Given the description of an element on the screen output the (x, y) to click on. 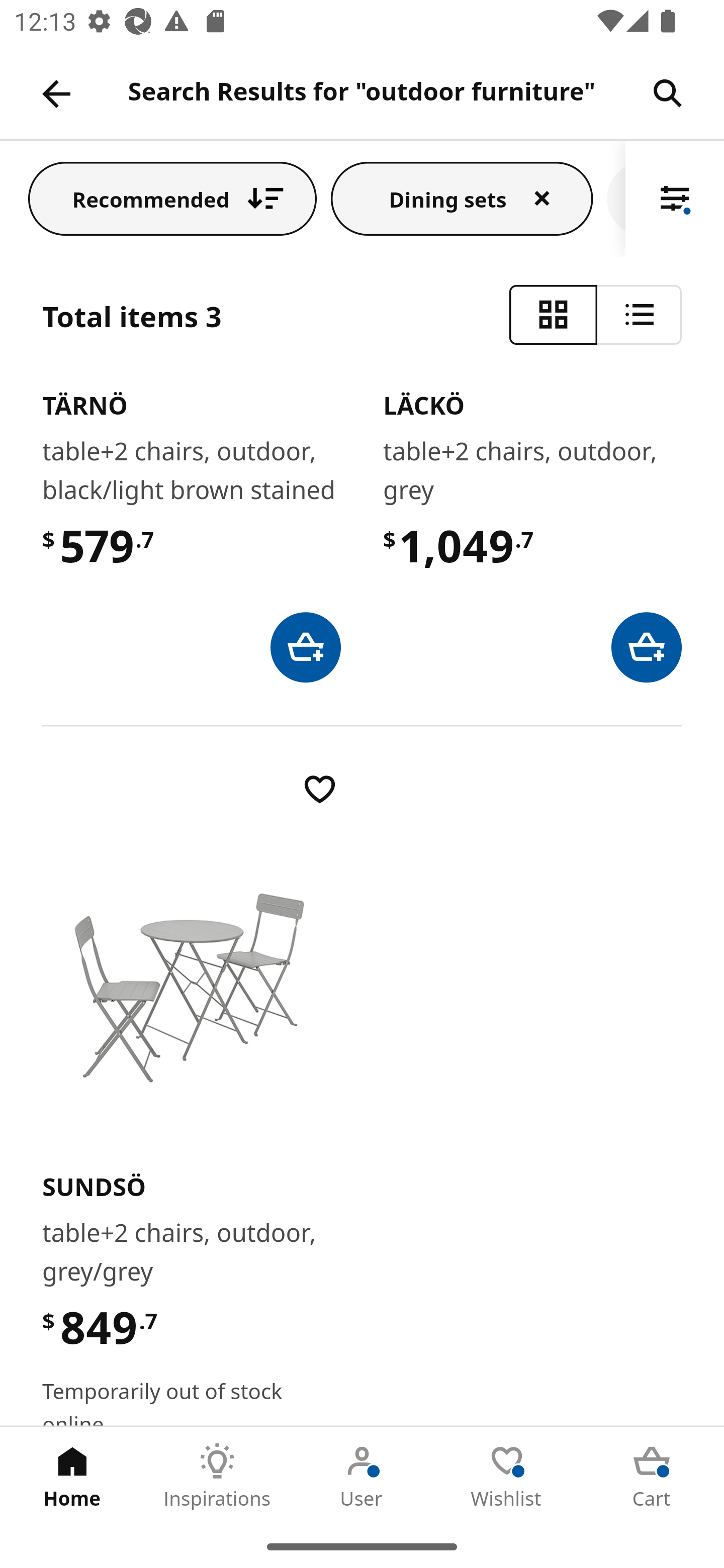
Recommended (172, 198)
Dining sets (461, 198)
Home
Tab 1 of 5 (72, 1476)
Inspirations
Tab 2 of 5 (216, 1476)
User
Tab 3 of 5 (361, 1476)
Wishlist
Tab 4 of 5 (506, 1476)
Cart
Tab 5 of 5 (651, 1476)
